Given the description of an element on the screen output the (x, y) to click on. 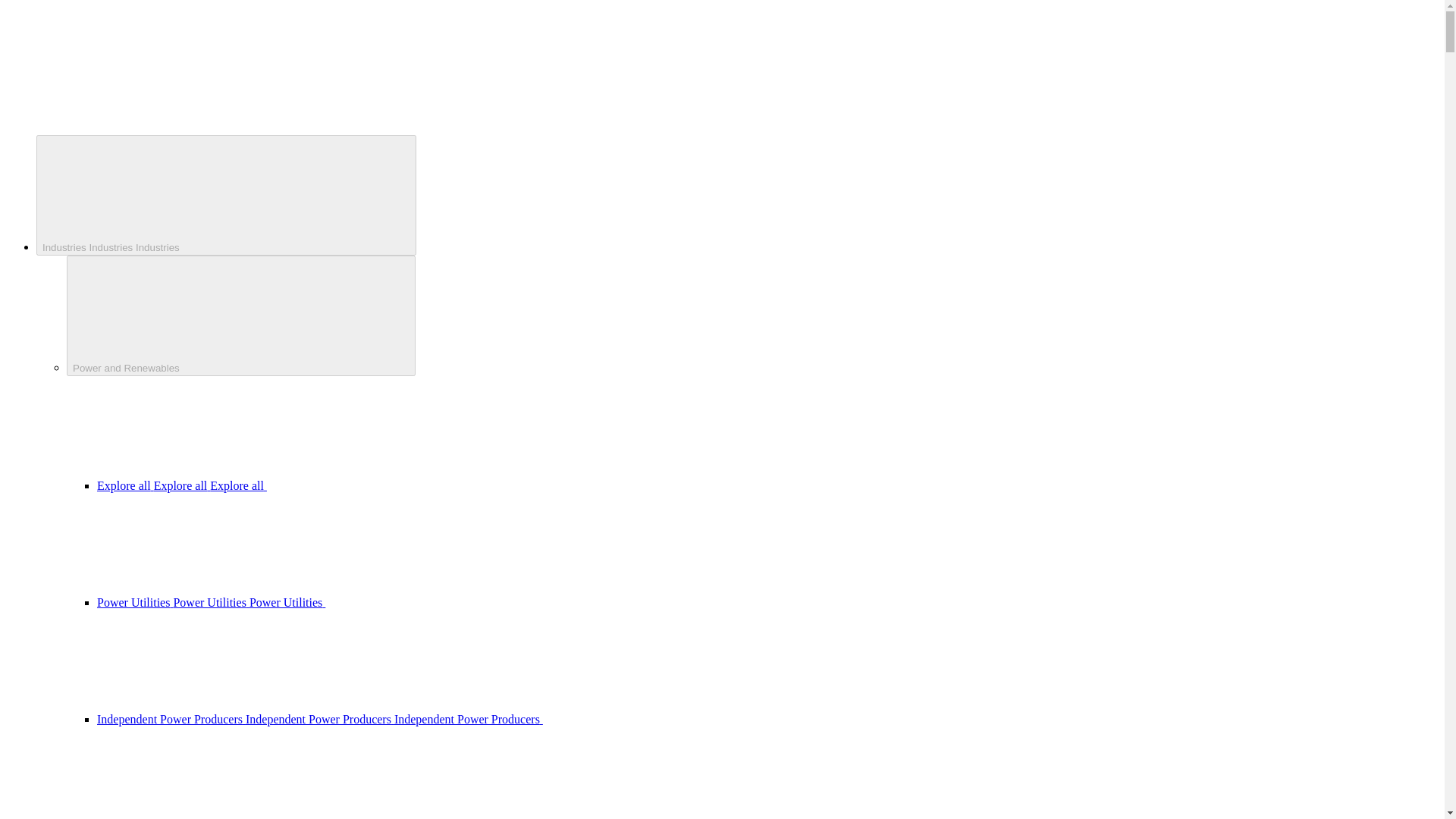
Explore all page : Power and Renewables (296, 485)
Open submenu : Industries (226, 195)
Go to homepage (118, 115)
Go to page : Power Utilities (325, 602)
Go to page : Independent Power Producers (433, 718)
Industries Industries Industries (226, 195)
Power and Renewables (240, 315)
Open submenu : Power and Renewables (240, 315)
Explore all Explore all Explore all (296, 485)
